Given the description of an element on the screen output the (x, y) to click on. 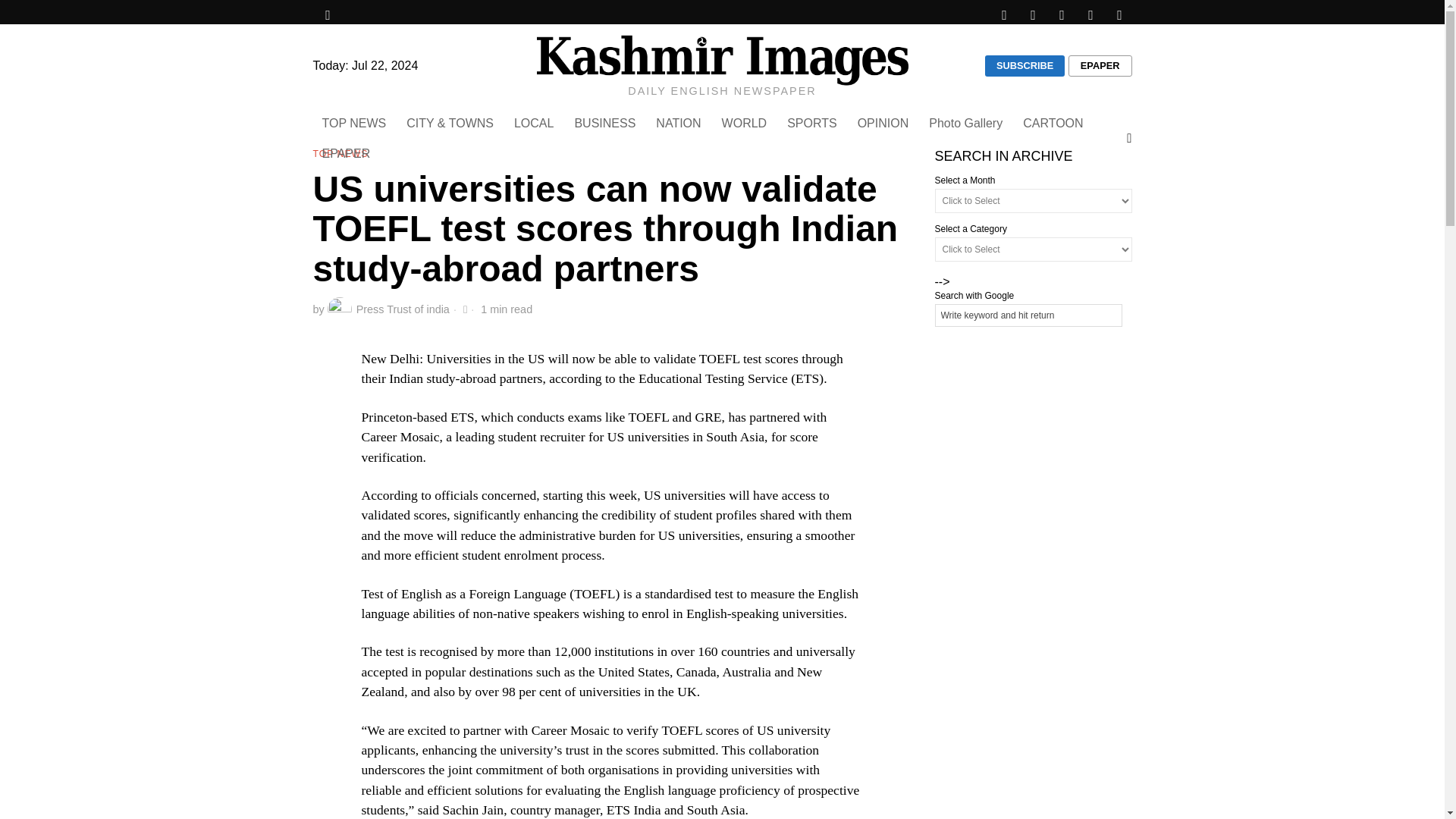
Press Trust of india (388, 309)
Write keyword and hit return (1027, 314)
SUBSCRIBE (1024, 65)
Photo Gallery (966, 123)
TOP NEWS (340, 155)
BUSINESS (605, 123)
EPAPER (1100, 65)
CARTOON (1053, 123)
NATION (678, 123)
SPORTS (812, 123)
OPINION (884, 123)
EPAPER (347, 153)
TOP NEWS (355, 123)
WORLD (745, 123)
LOCAL (534, 123)
